Given the description of an element on the screen output the (x, y) to click on. 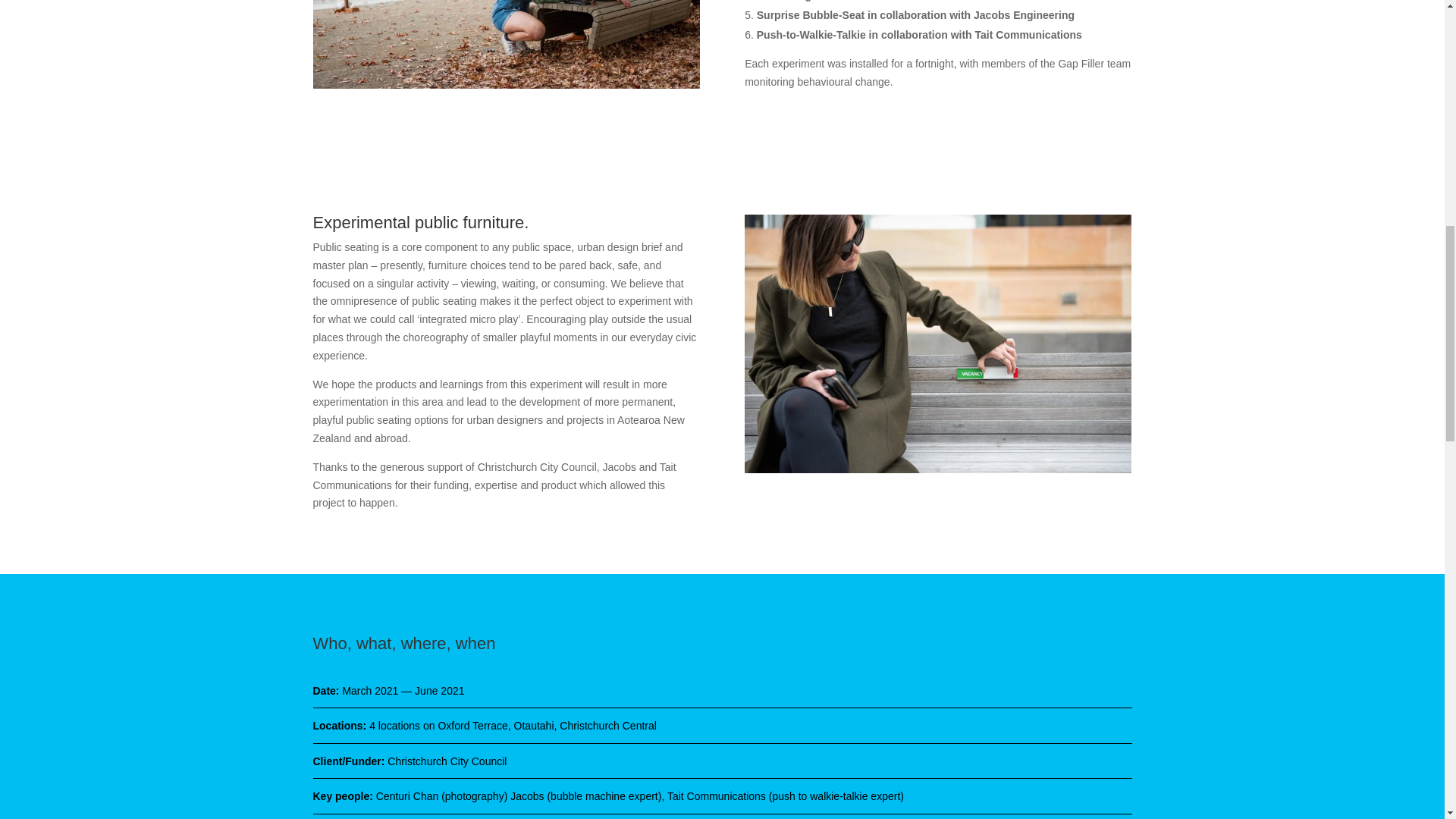
Page 3 (722, 761)
Page 3 (722, 796)
20210420 Sit - Vacancy - no vacancy - HiRes-5 (937, 343)
20210420 Sit - magic 8 ball - HiRes-7 (505, 44)
